Given the description of an element on the screen output the (x, y) to click on. 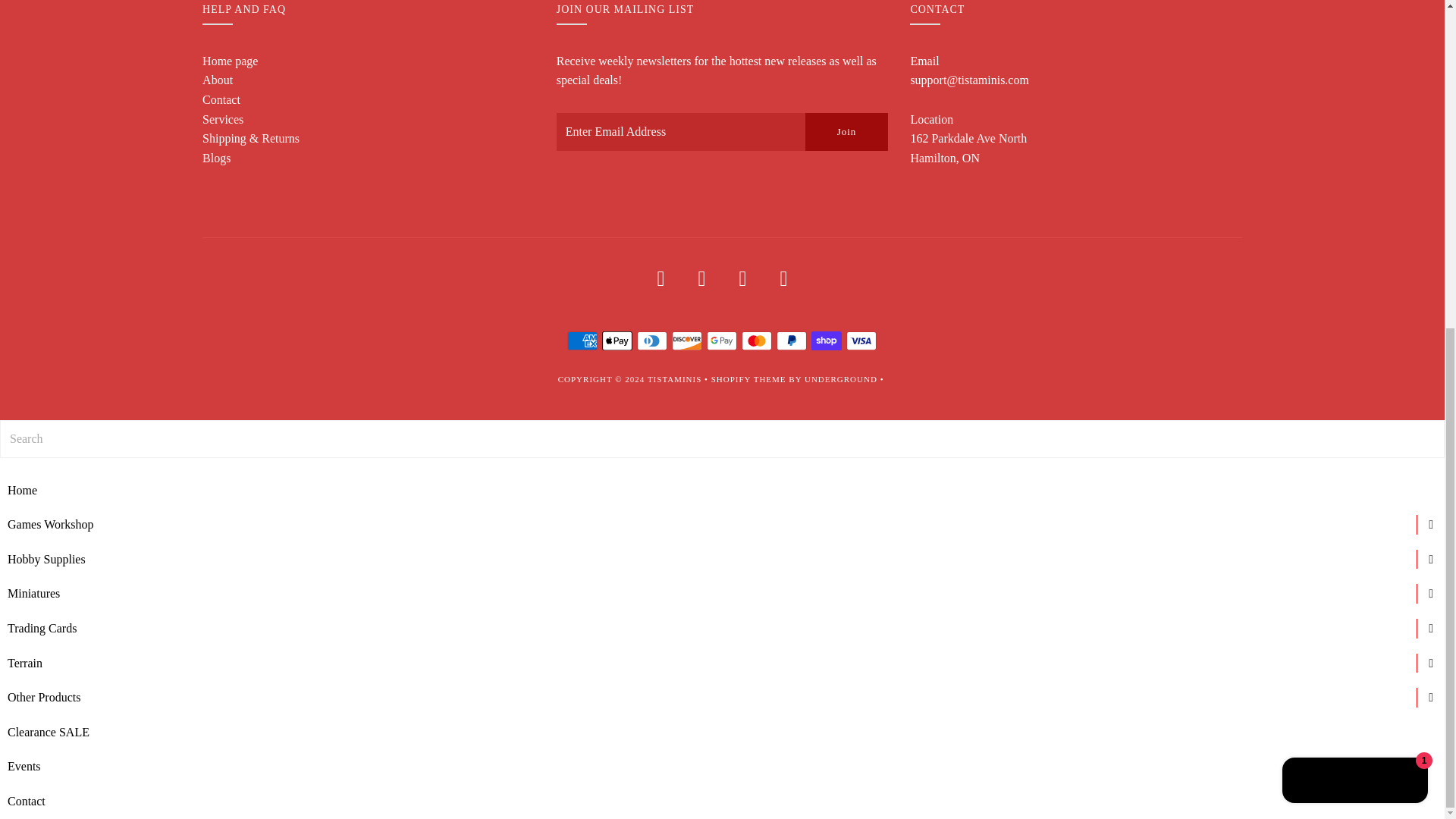
Google Pay (721, 340)
PayPal (791, 340)
Visa (860, 340)
Shop Pay (825, 340)
Mastercard (756, 340)
Shopify online store chat (1355, 239)
Apple Pay (616, 340)
Join (846, 131)
Discover (686, 340)
Diners Club (651, 340)
American Express (581, 340)
Shopify theme (748, 379)
